Given the description of an element on the screen output the (x, y) to click on. 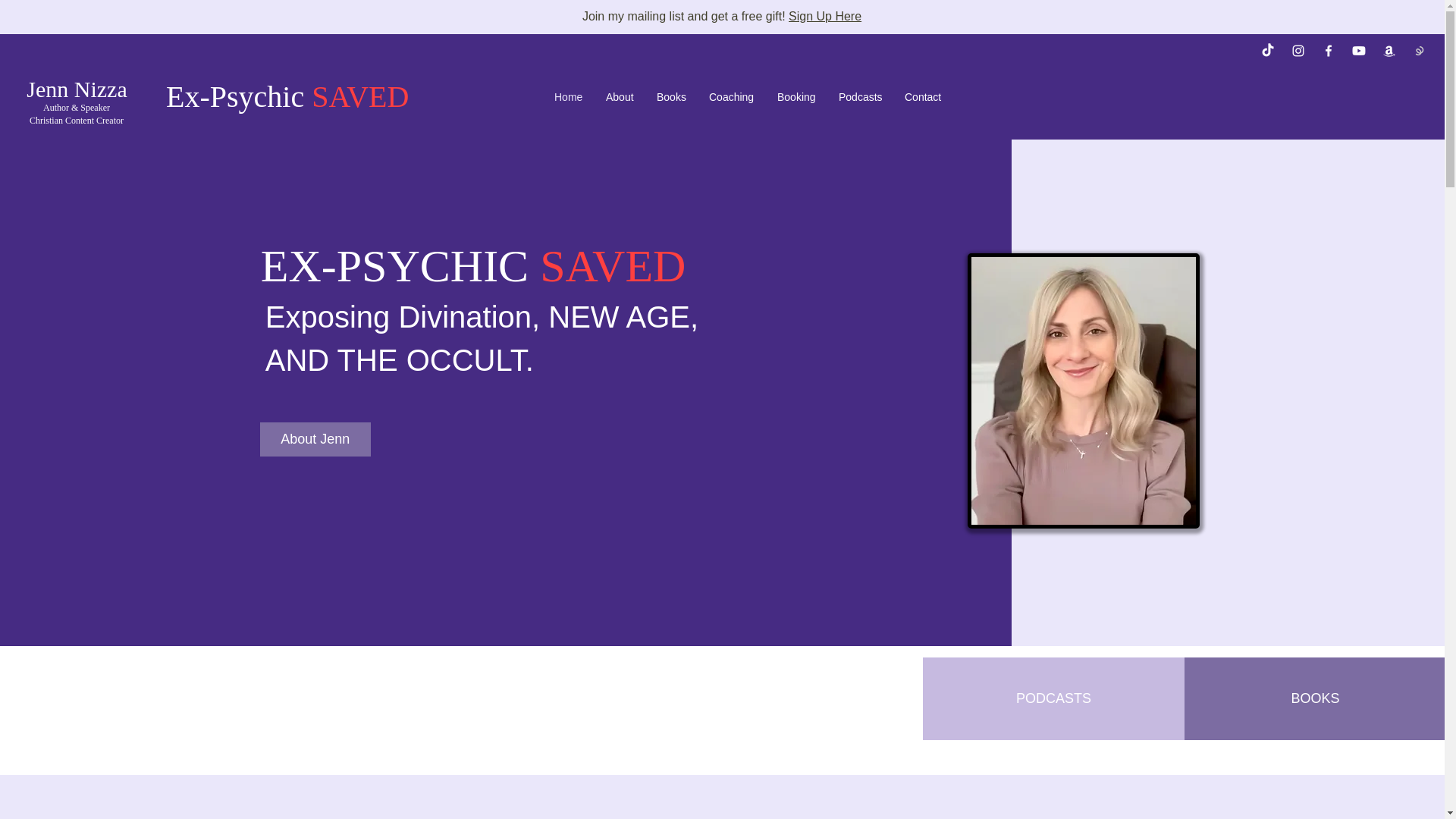
About Jenn (315, 439)
Podcasts (860, 96)
Jenn Nizza (76, 88)
PODCASTS (1054, 698)
Sign Up Here (825, 15)
Ex-Psychic SAVED (287, 96)
Coaching (731, 96)
About (619, 96)
Books (671, 96)
Home (568, 96)
Contact (923, 96)
